Given the description of an element on the screen output the (x, y) to click on. 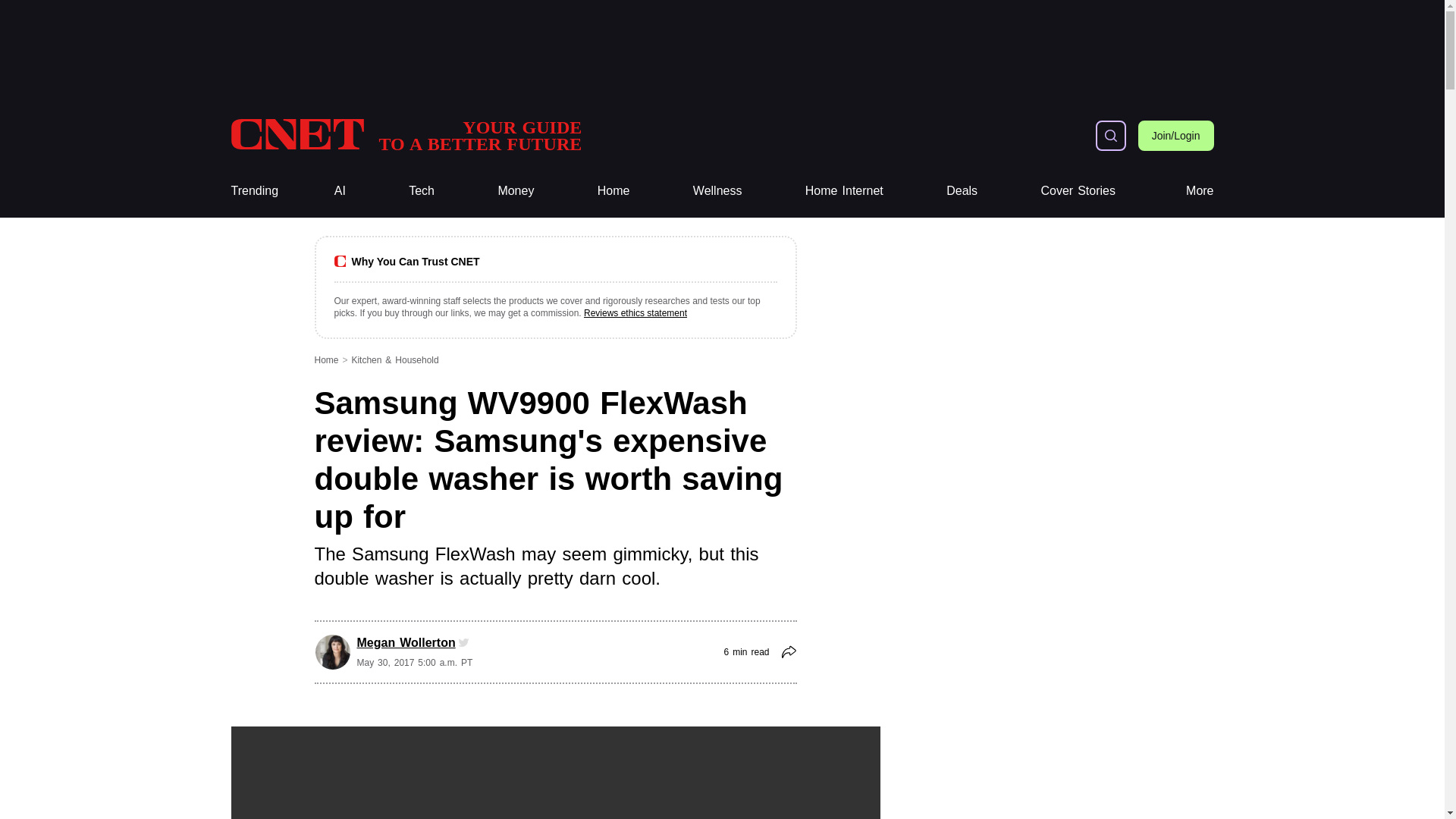
Wellness (717, 190)
Home Internet (844, 190)
Home (613, 190)
Deals (961, 190)
Money (515, 190)
Home Internet (405, 135)
Tech (844, 190)
Tech (421, 190)
Money (421, 190)
Trending (515, 190)
Wellness (254, 190)
More (717, 190)
Cover Stories (1199, 190)
CNET (1078, 190)
